Given the description of an element on the screen output the (x, y) to click on. 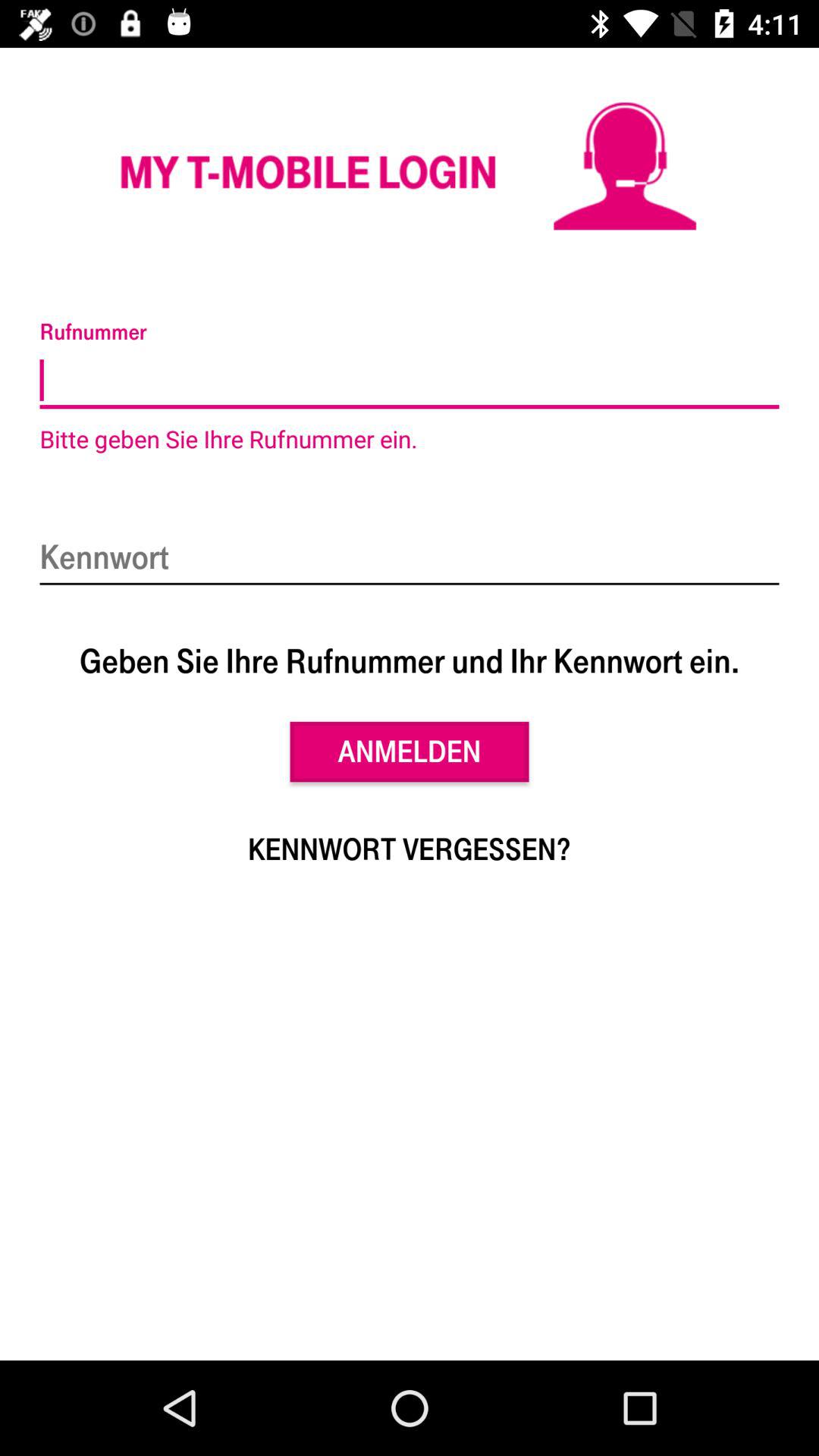
open item above kennwort vergessen? item (409, 751)
